Given the description of an element on the screen output the (x, y) to click on. 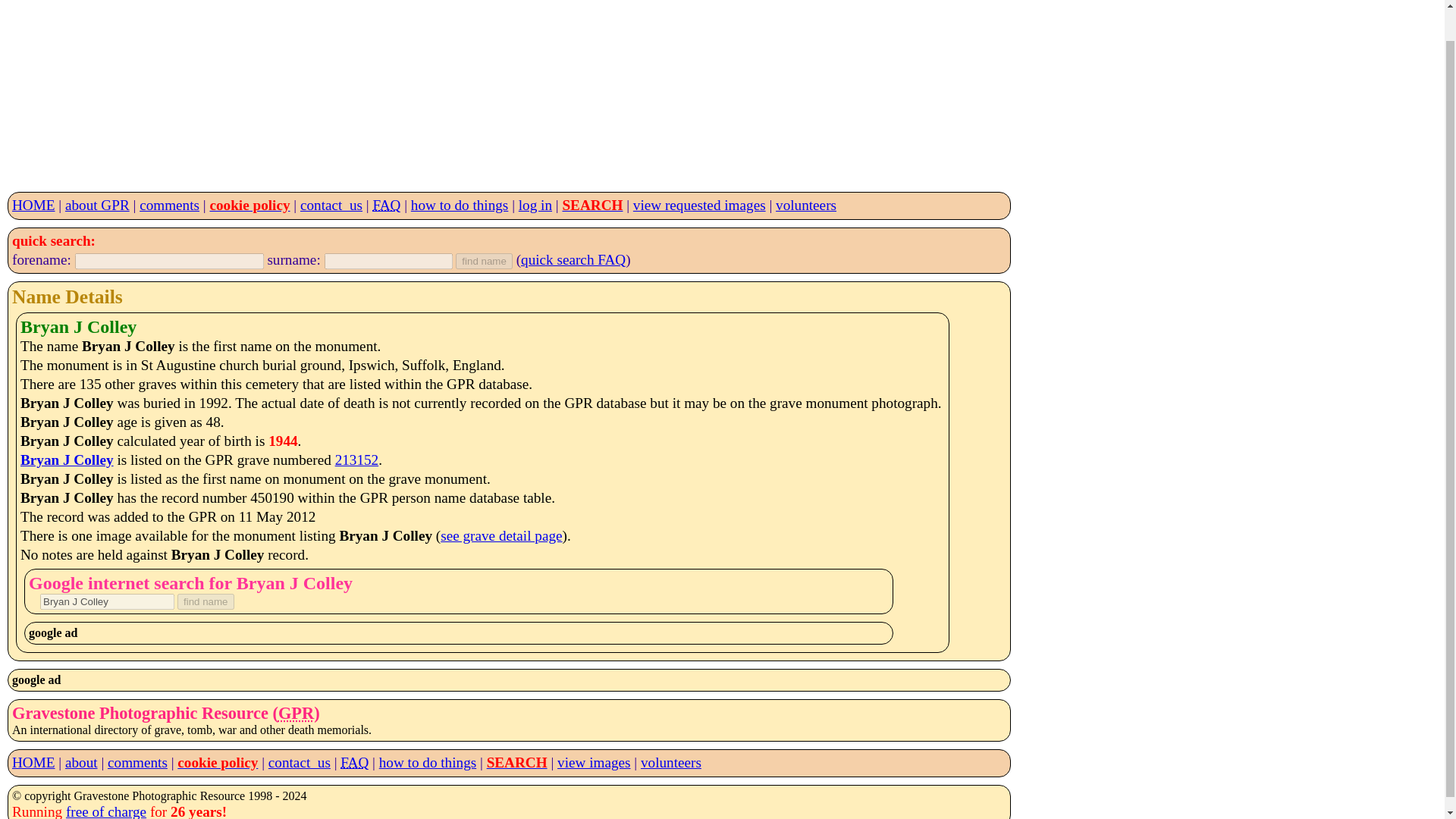
cookie policy (249, 204)
how to do things (459, 204)
view requested images (699, 204)
find name (483, 261)
Gravestone Photographic Resource (296, 712)
about (81, 762)
Bryan J Colley (66, 459)
volunteers (670, 762)
how to do things (427, 762)
FAQ (354, 762)
cookie policy (217, 762)
HOME (33, 204)
Bryan J Colley (107, 601)
view images (593, 762)
213152 (356, 459)
